Given the description of an element on the screen output the (x, y) to click on. 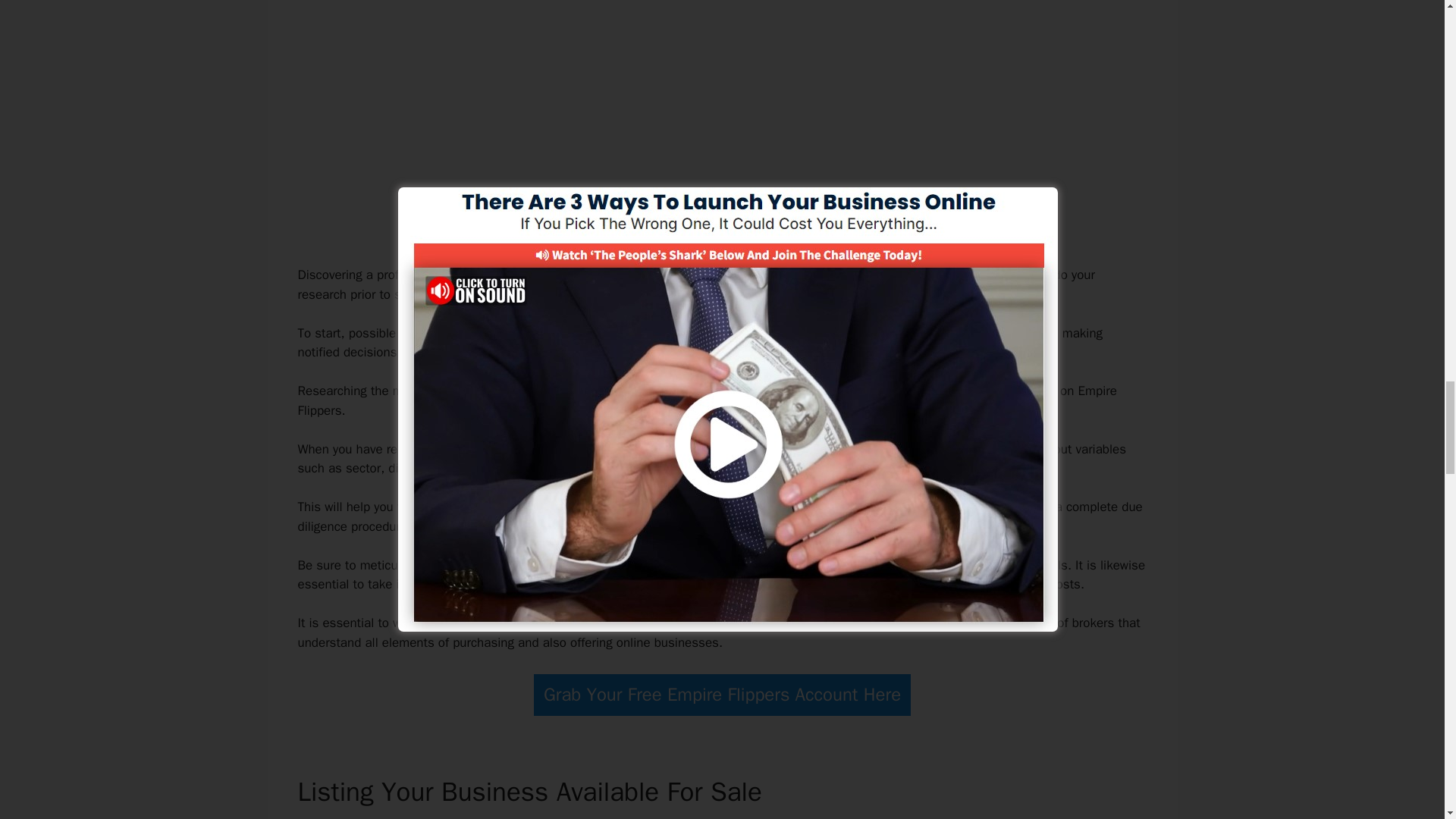
Grab Your Free Empire Flippers Account Here (722, 694)
